Given the description of an element on the screen output the (x, y) to click on. 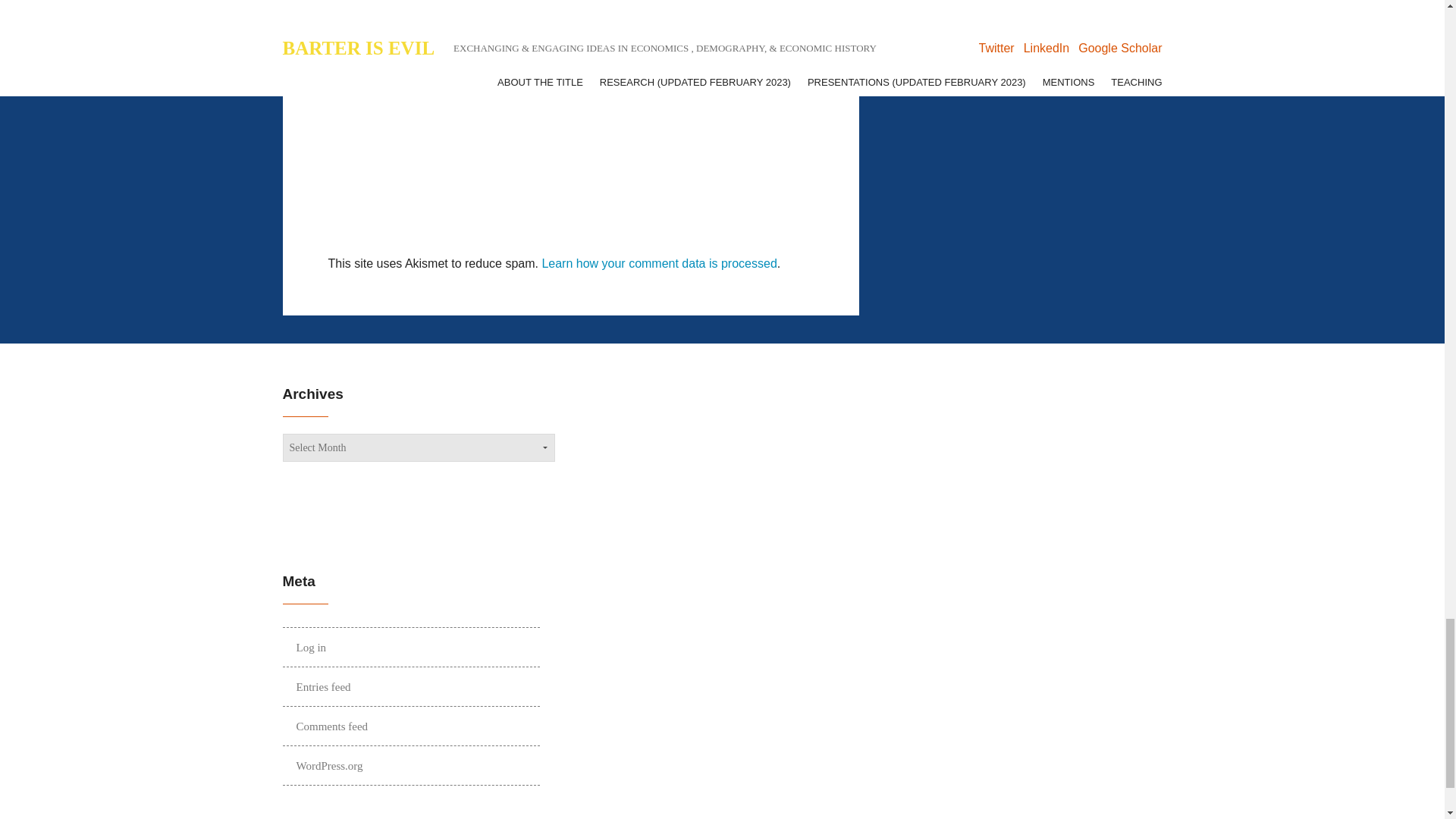
Learn how your comment data is processed (658, 263)
Comment Form (569, 124)
